Given the description of an element on the screen output the (x, y) to click on. 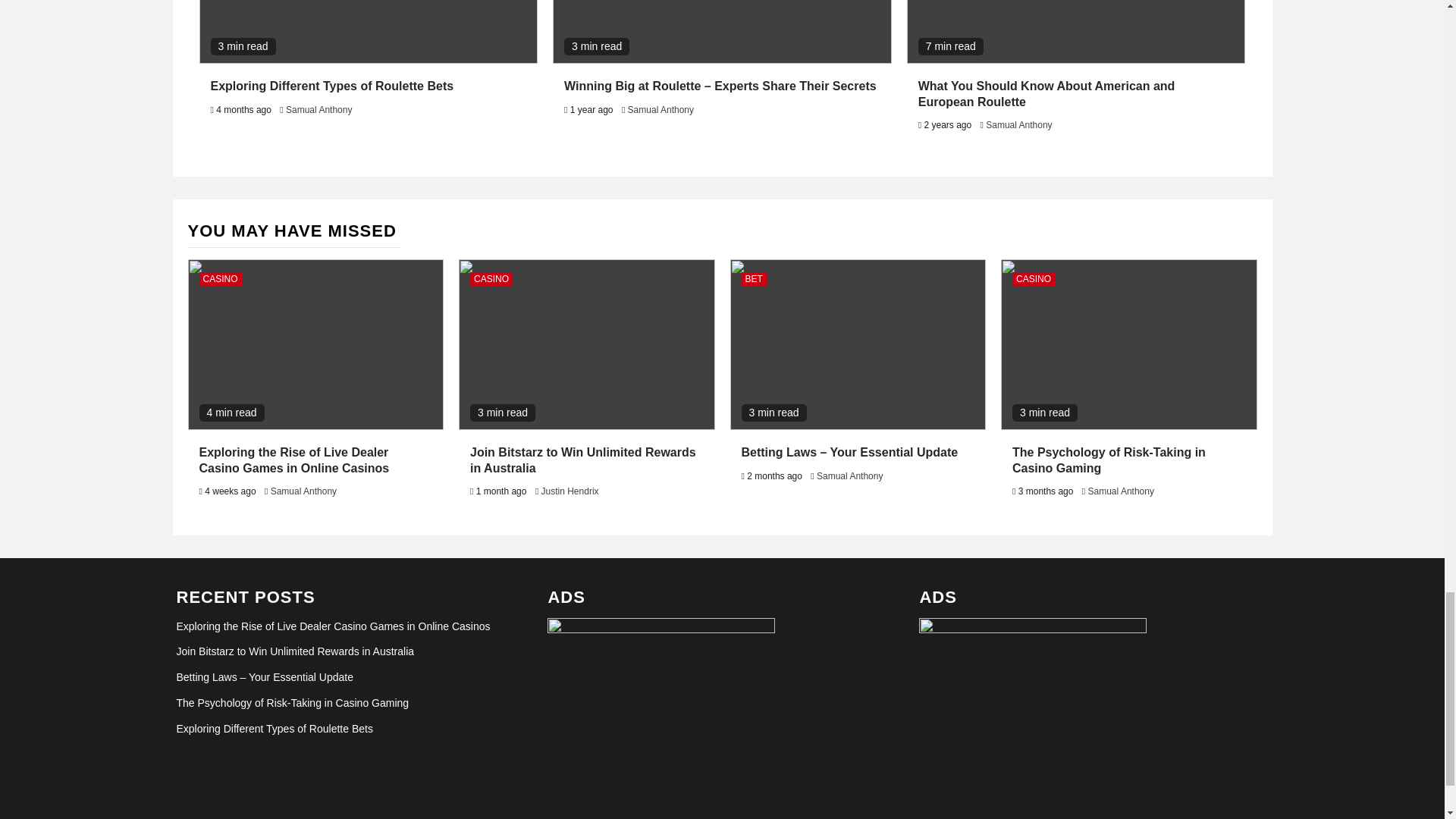
Samual Anthony (318, 109)
Exploring Different Types of Roulette Bets (332, 85)
Join Bitstarz to Win Unlimited Rewards in Australia (582, 460)
What You Should Know About American and European Roulette (1046, 93)
CASINO (219, 278)
Samual Anthony (1018, 124)
Samual Anthony (303, 491)
Samual Anthony (660, 109)
CASINO (491, 278)
